Given the description of an element on the screen output the (x, y) to click on. 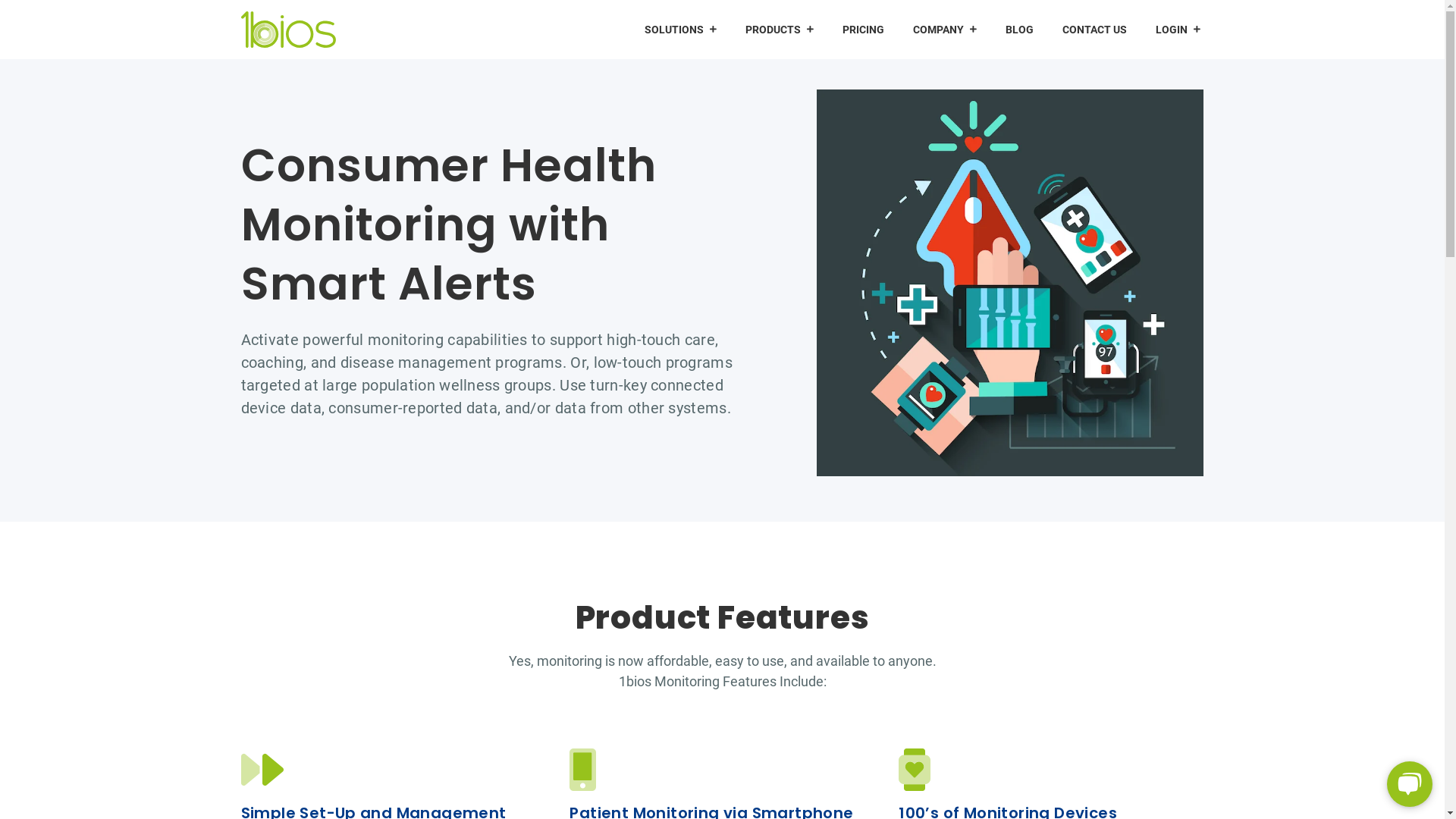
BLOG Element type: text (1019, 29)
PRODUCTS Element type: text (779, 29)
LOGIN Element type: text (1177, 29)
COMPANY Element type: text (944, 29)
monitoring-alerts-software-1bios Element type: hover (1009, 282)
SOLUTIONS Element type: text (680, 29)
CONTACT US Element type: text (1094, 29)
PRICING Element type: text (863, 29)
1bios-svg-logo Element type: hover (288, 28)
